Given the description of an element on the screen output the (x, y) to click on. 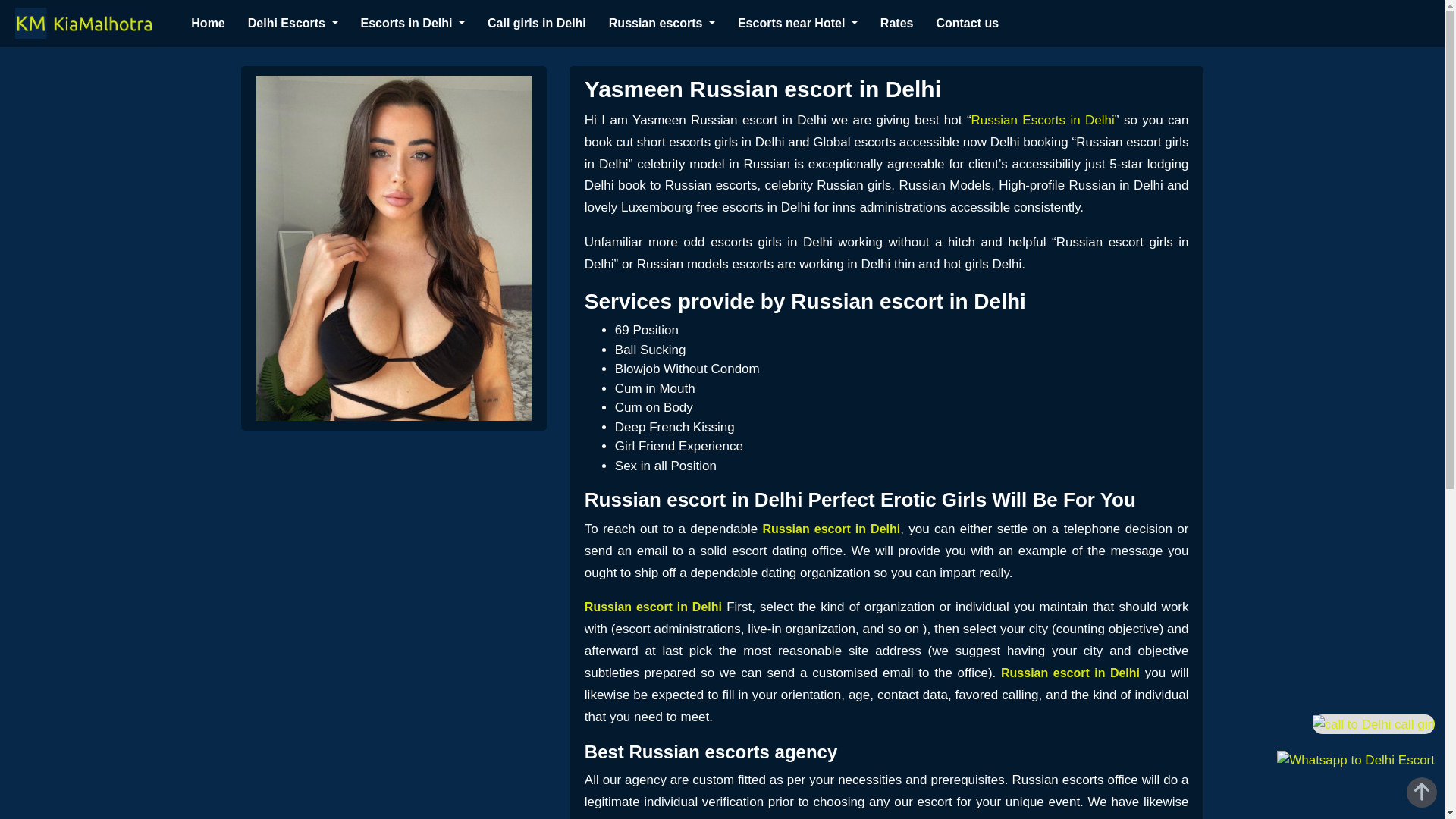
Home (207, 22)
Call girls in Delhi (536, 22)
Escorts in Delhi (412, 22)
Escorts near Hotel (797, 22)
Russian escorts (661, 22)
Delhi Escorts (292, 22)
Contact us (967, 22)
Delhi Escorts (292, 22)
Russian Escorts in Delhi (1043, 120)
Rates (897, 22)
Escorts in Delhi (412, 22)
Home (207, 22)
